Given the description of an element on the screen output the (x, y) to click on. 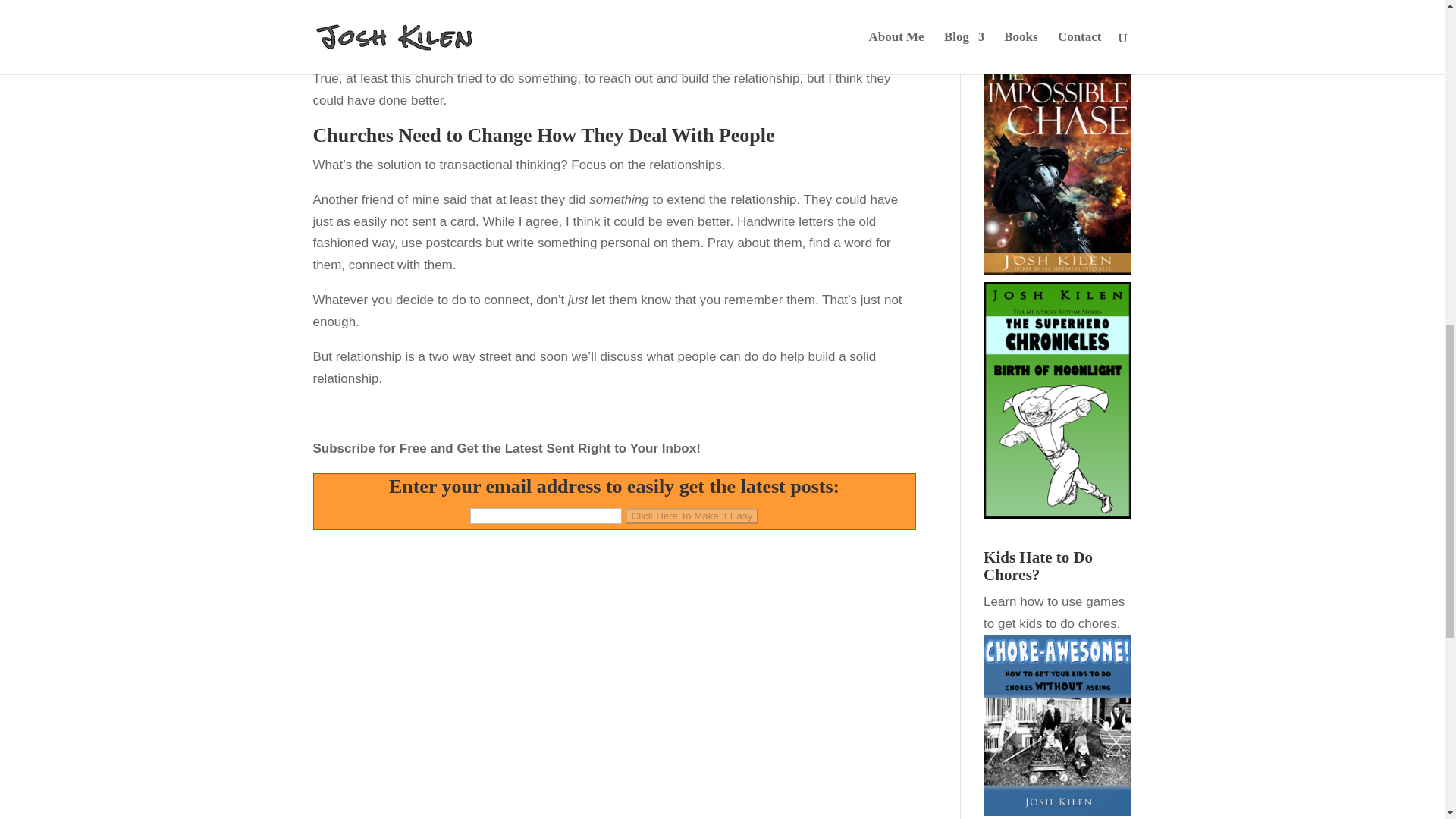
Click Here To Make It Easy (692, 515)
Click Here To Make It Easy (692, 515)
